Given the description of an element on the screen output the (x, y) to click on. 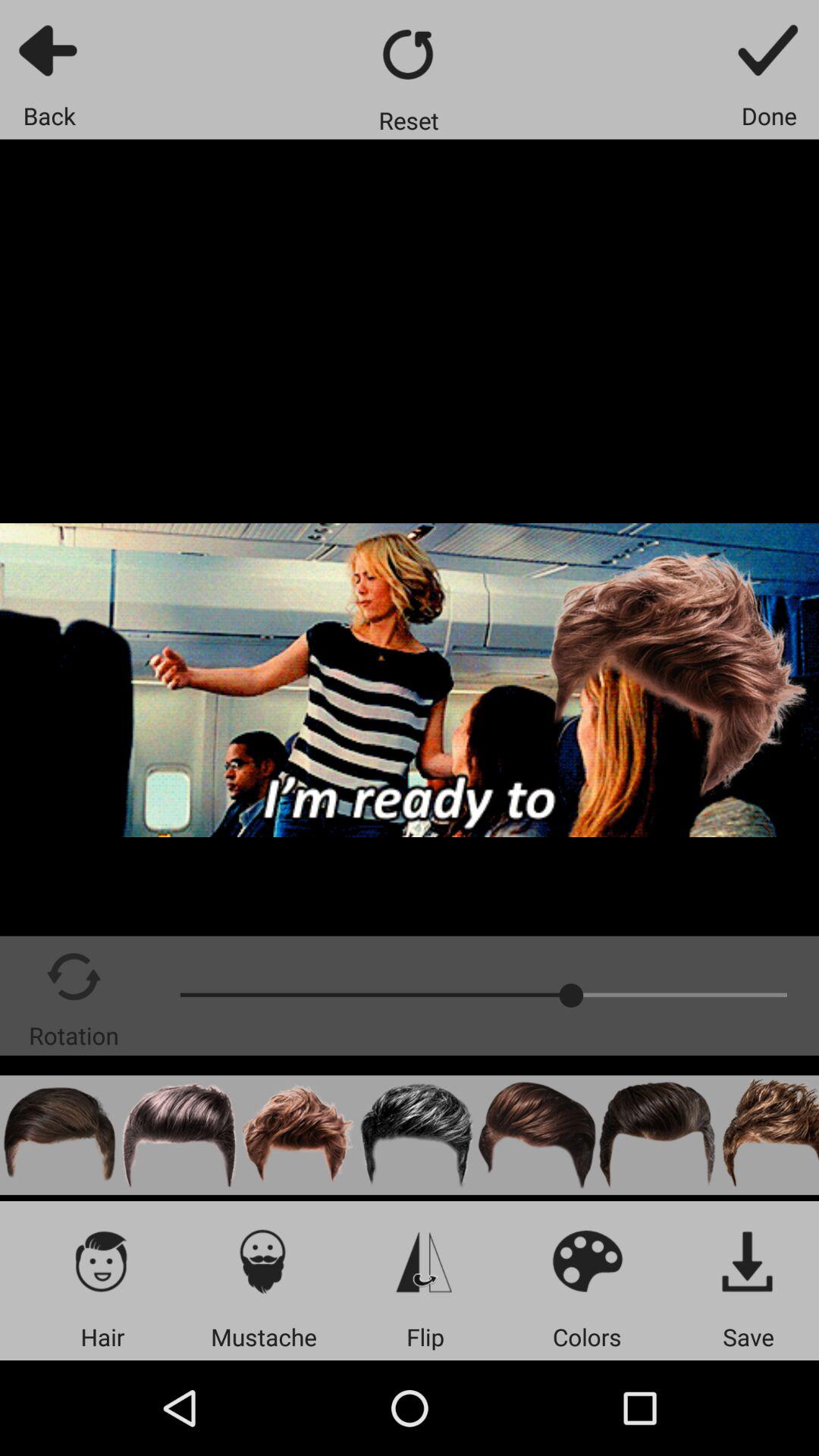
select hairstyle (656, 1134)
